Given the description of an element on the screen output the (x, y) to click on. 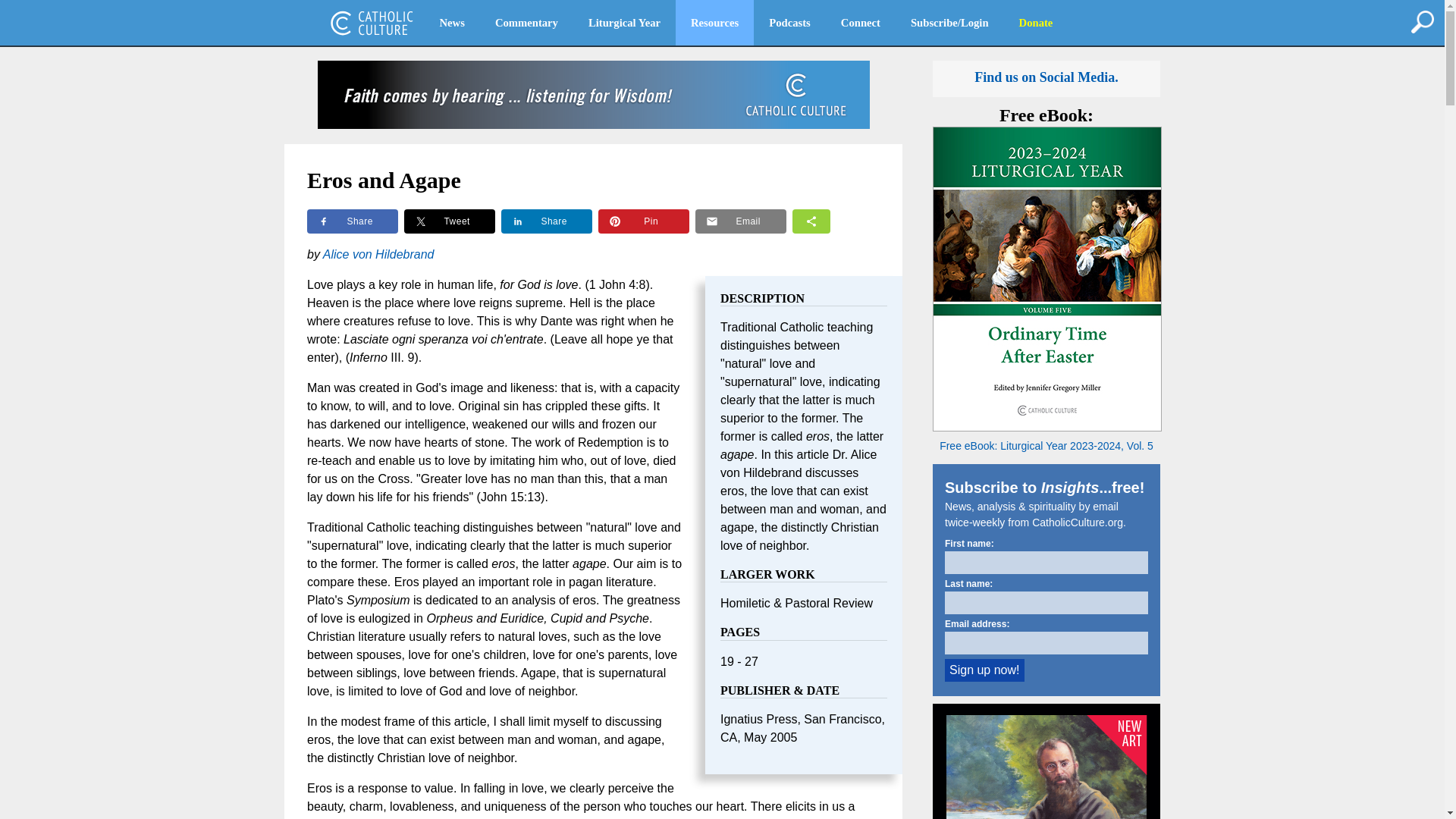
Podcasts (789, 22)
Commentary (526, 22)
Sign up now! (984, 670)
Liturgical Year (624, 22)
Resources (714, 22)
News (452, 22)
CatholicCulture.org (371, 22)
